Given the description of an element on the screen output the (x, y) to click on. 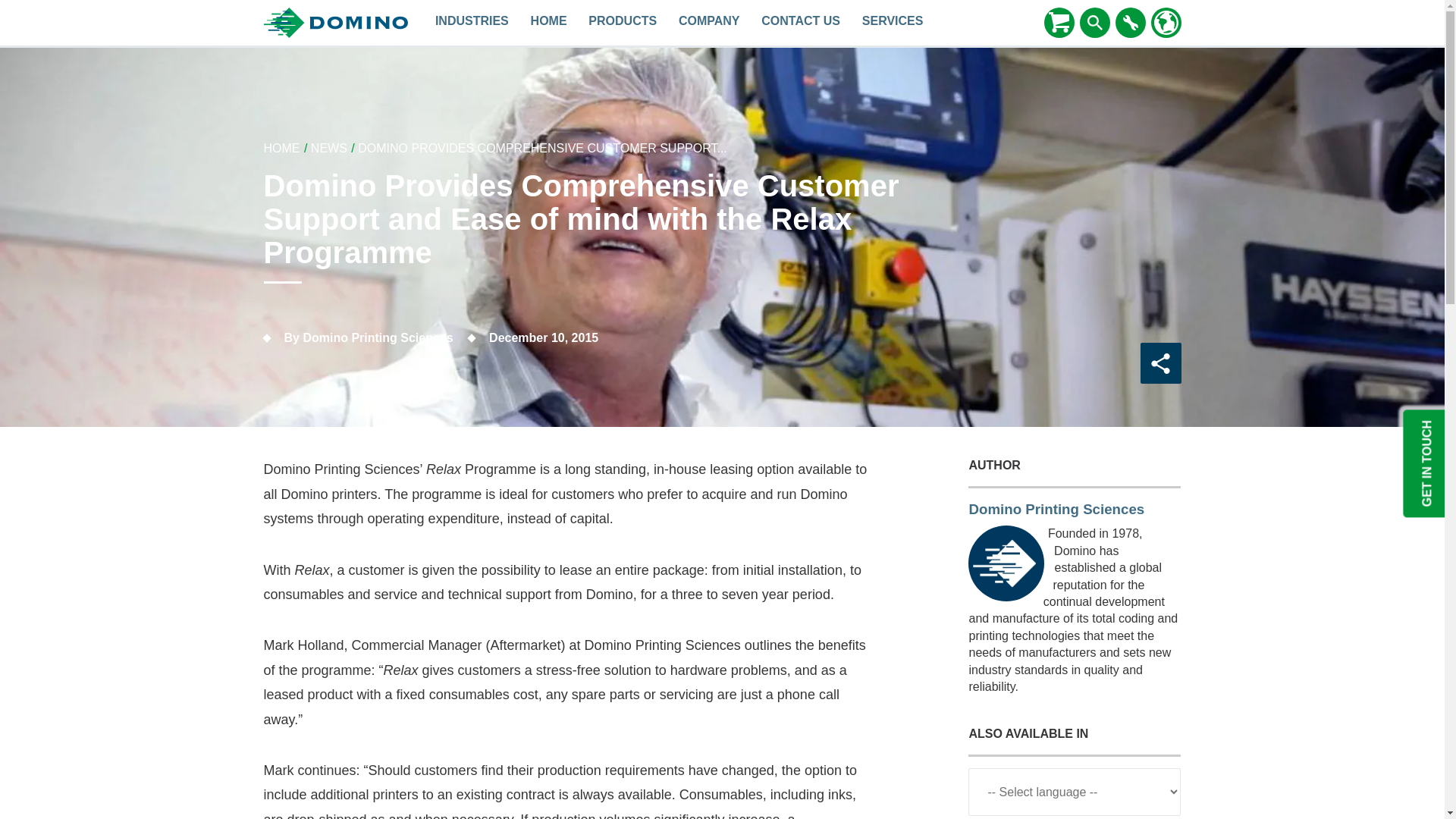
Change Region (1165, 22)
Company (709, 22)
Services (891, 22)
Domino North America - World-Class Industrial Printers (548, 22)
products (623, 22)
Search (1094, 22)
BuyDomino (1058, 22)
MyDomino Portals (1129, 22)
Search (1094, 22)
MyDomino Portals (1129, 22)
